Given the description of an element on the screen output the (x, y) to click on. 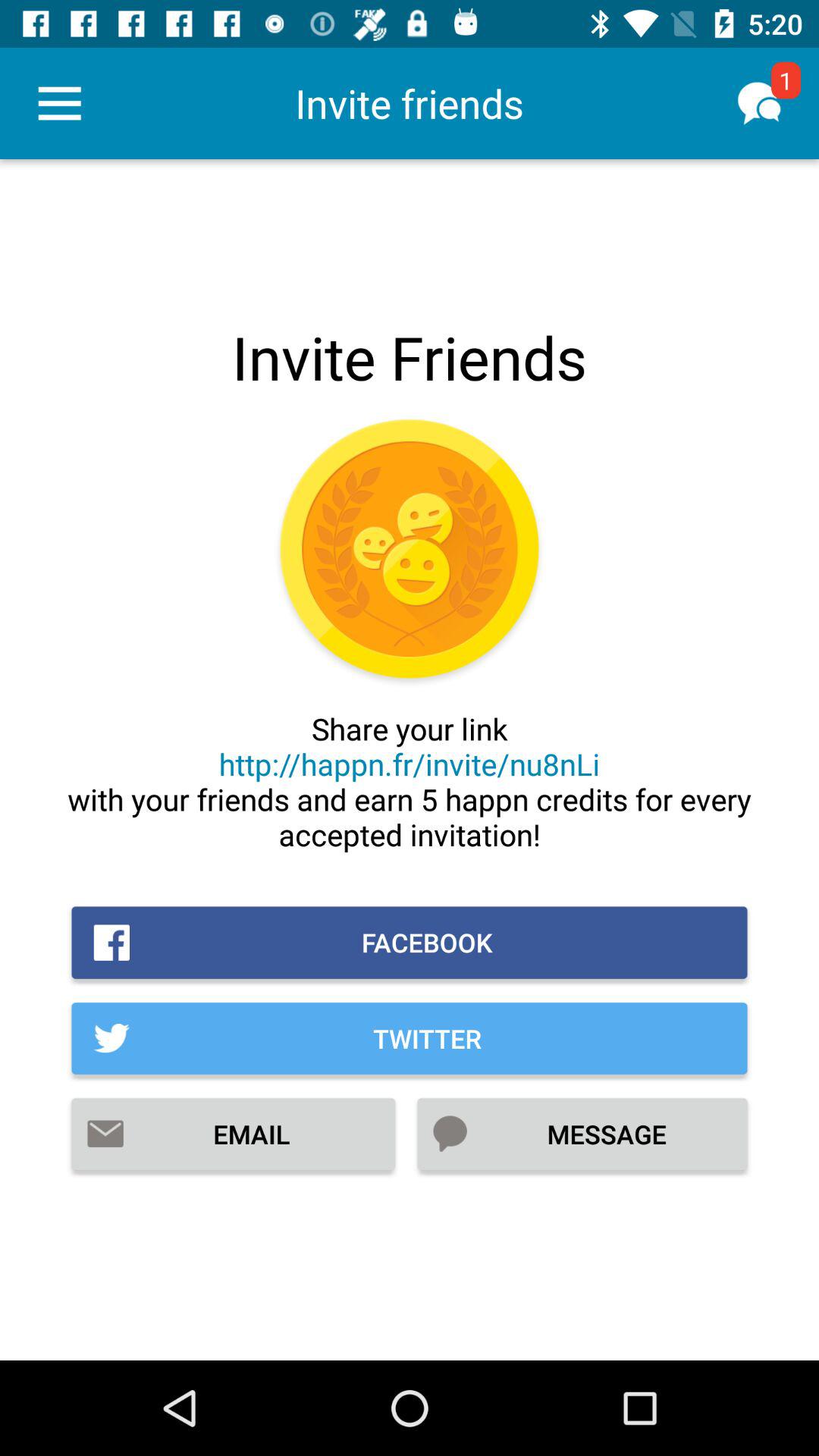
turn off the twitter icon (409, 1038)
